Given the description of an element on the screen output the (x, y) to click on. 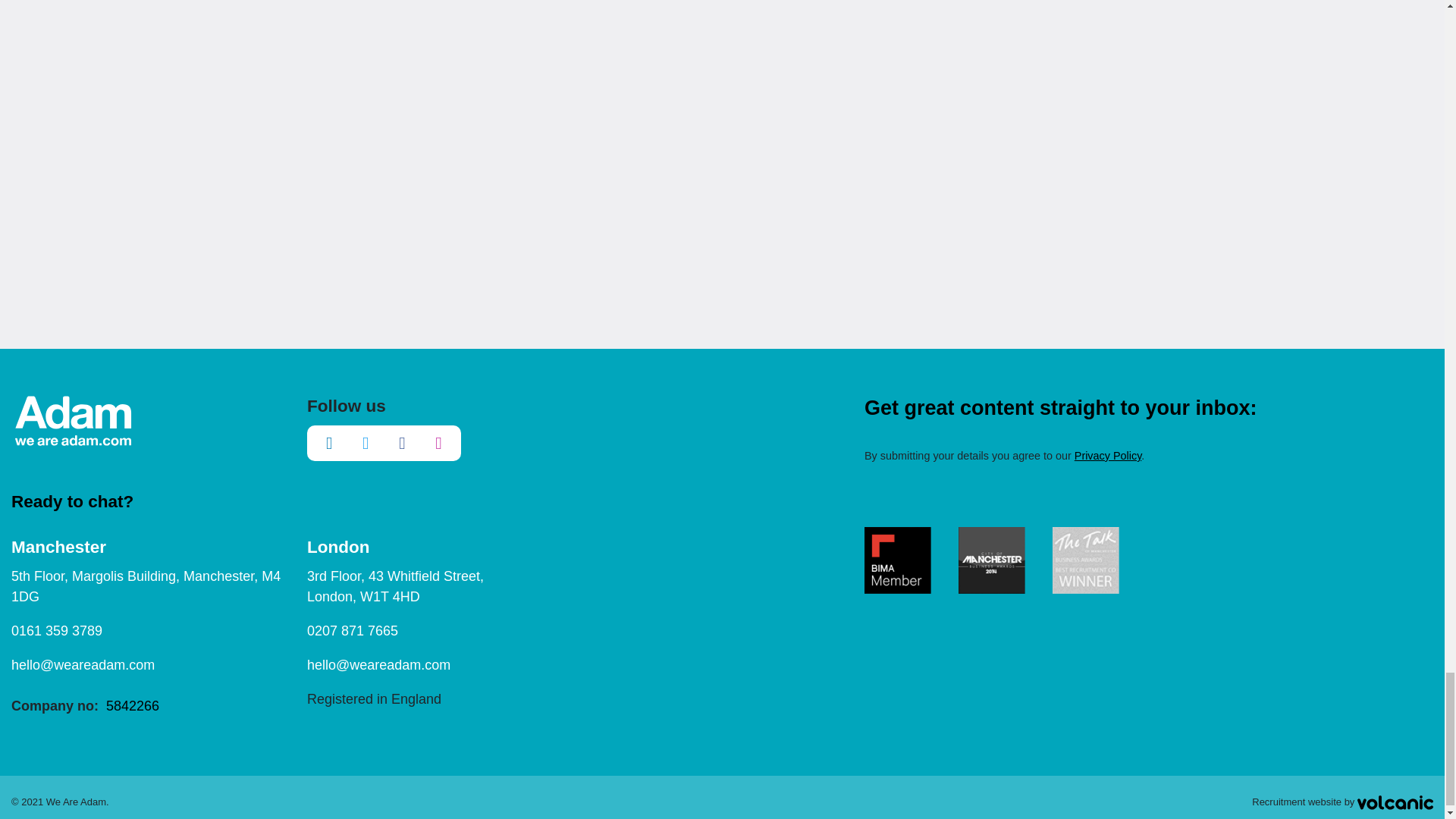
Call with CircleLoop (56, 630)
Go to the Homepage (73, 419)
Volcanic (1394, 802)
Call with CircleLoop (352, 630)
